Given the description of an element on the screen output the (x, y) to click on. 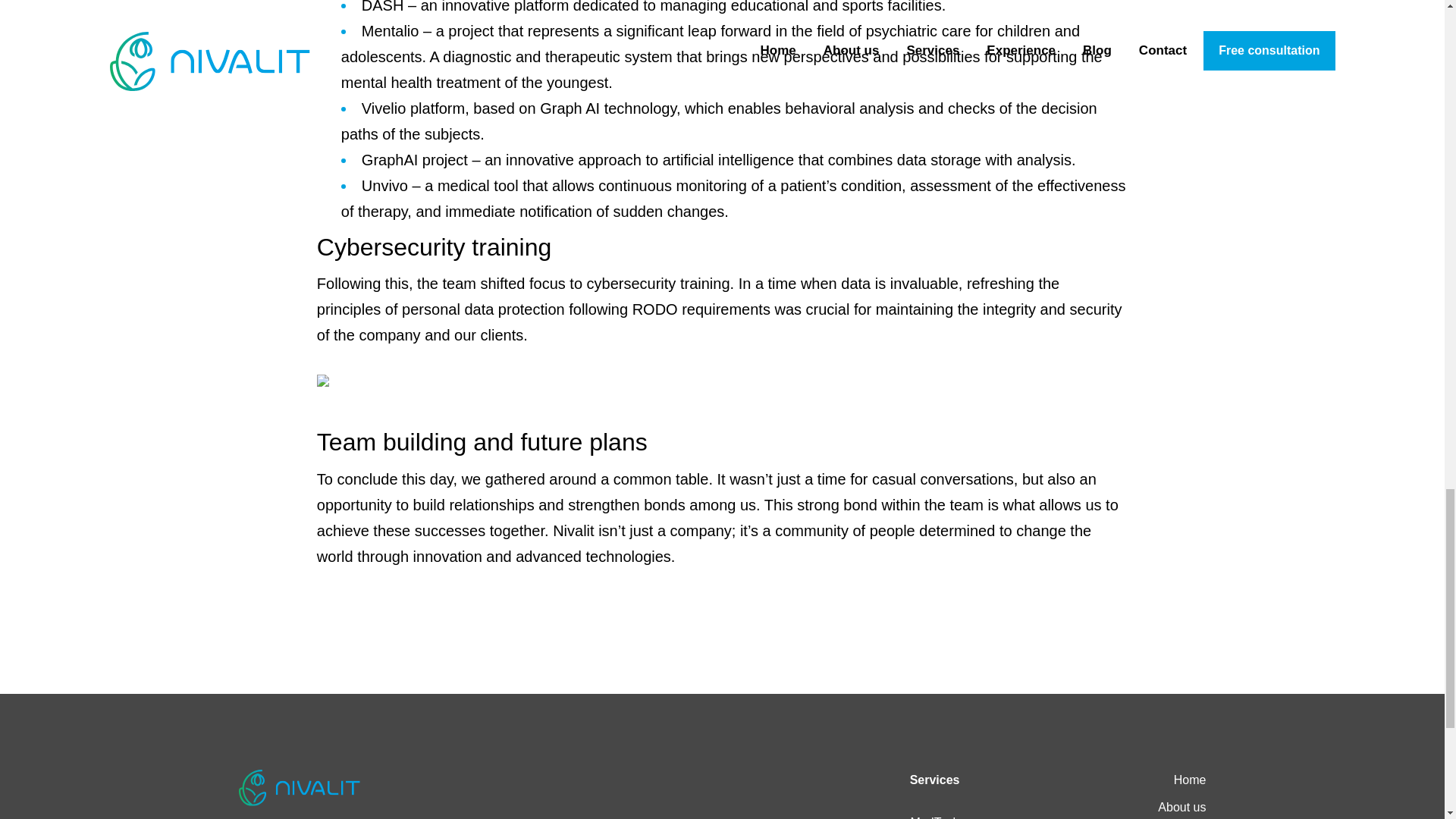
nivalit logo (298, 787)
Home (1190, 780)
Services (934, 780)
MedTech (935, 816)
Nivalit (298, 786)
About us (1181, 807)
